Given the description of an element on the screen output the (x, y) to click on. 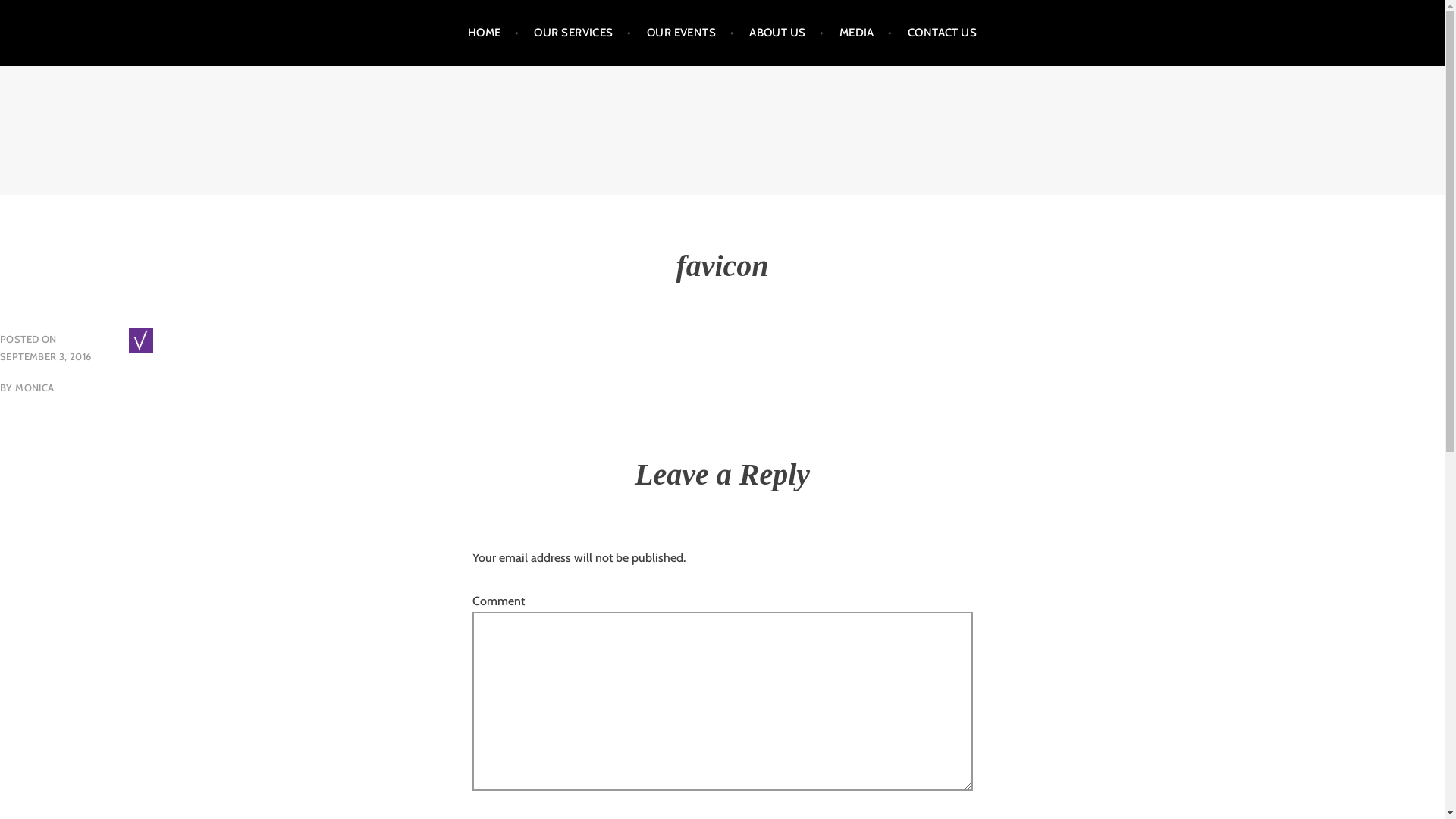
SEPTEMBER 3, 2016 Element type: text (45, 356)
FINVEST PROPERTY INVESTMENT STRATEGIES Element type: text (349, 156)
OUR EVENTS Element type: text (690, 32)
OUR SERVICES Element type: text (581, 32)
MEDIA Element type: text (865, 32)
CONTACT US Element type: text (942, 32)
HOME Element type: text (493, 32)
ABOUT US Element type: text (786, 32)
MONICA Element type: text (34, 387)
